Given the description of an element on the screen output the (x, y) to click on. 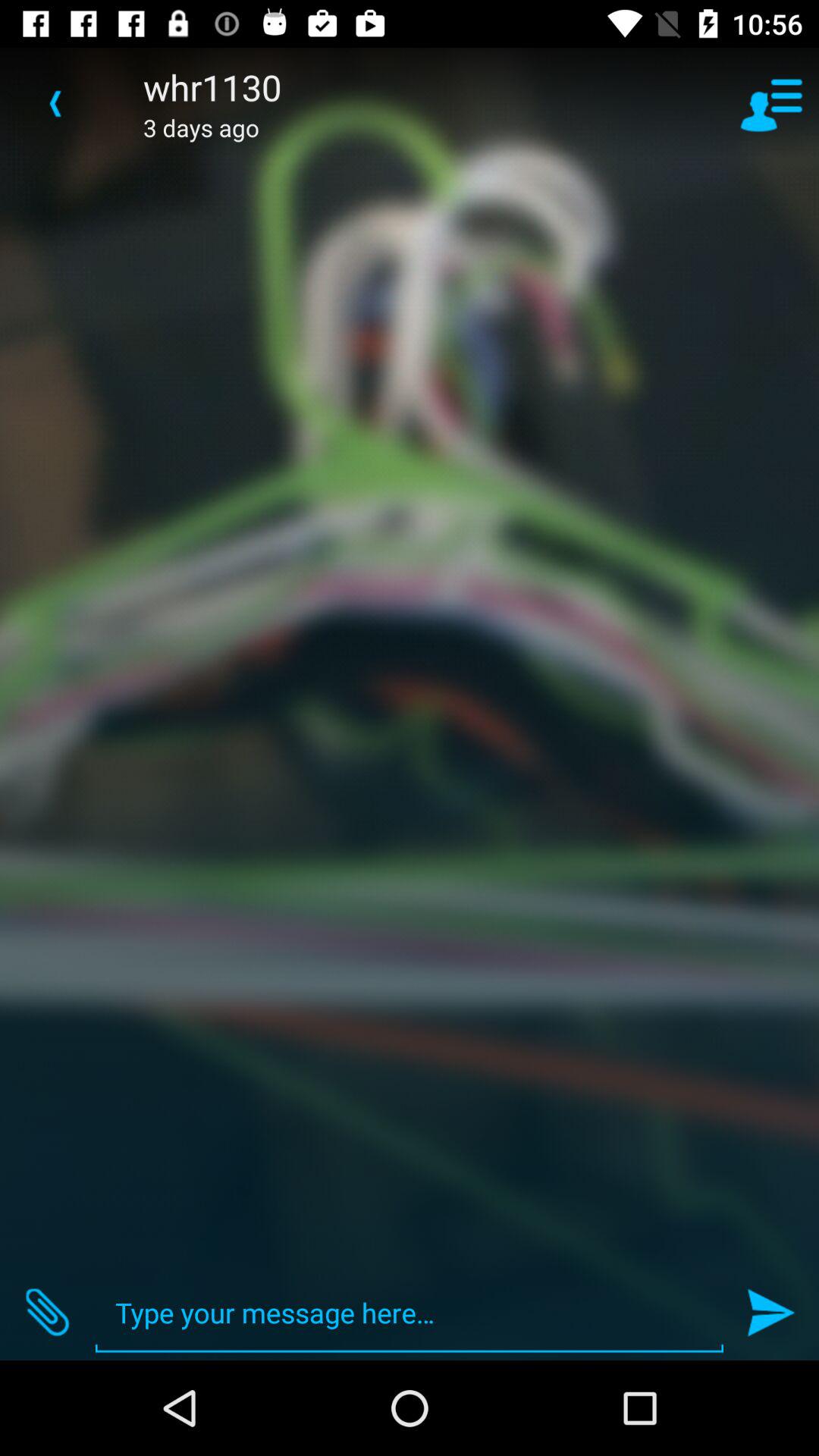
press the item to the right of whr1130 (771, 103)
